Given the description of an element on the screen output the (x, y) to click on. 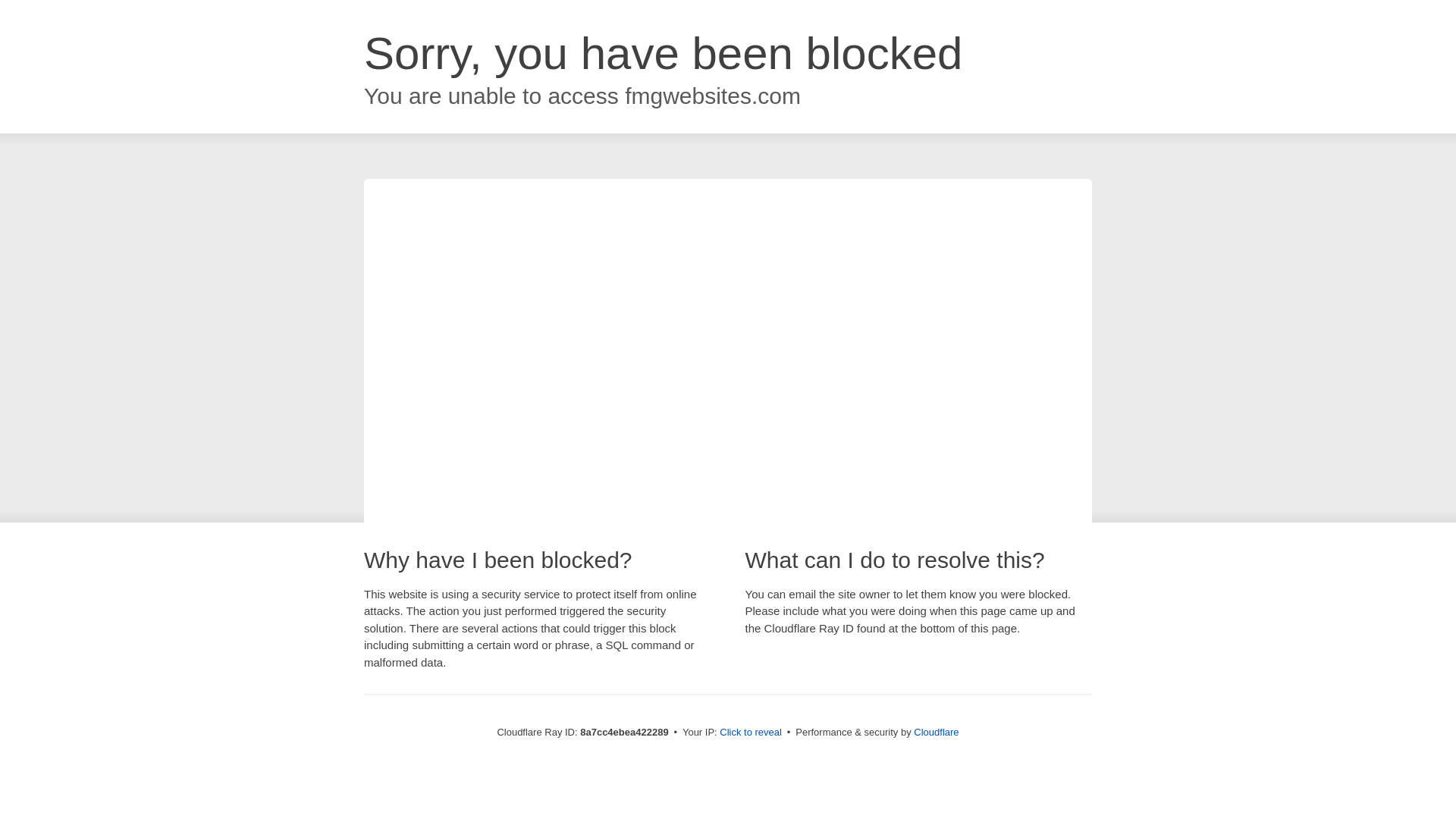
Click to reveal (750, 732)
Cloudflare (936, 731)
